Given the description of an element on the screen output the (x, y) to click on. 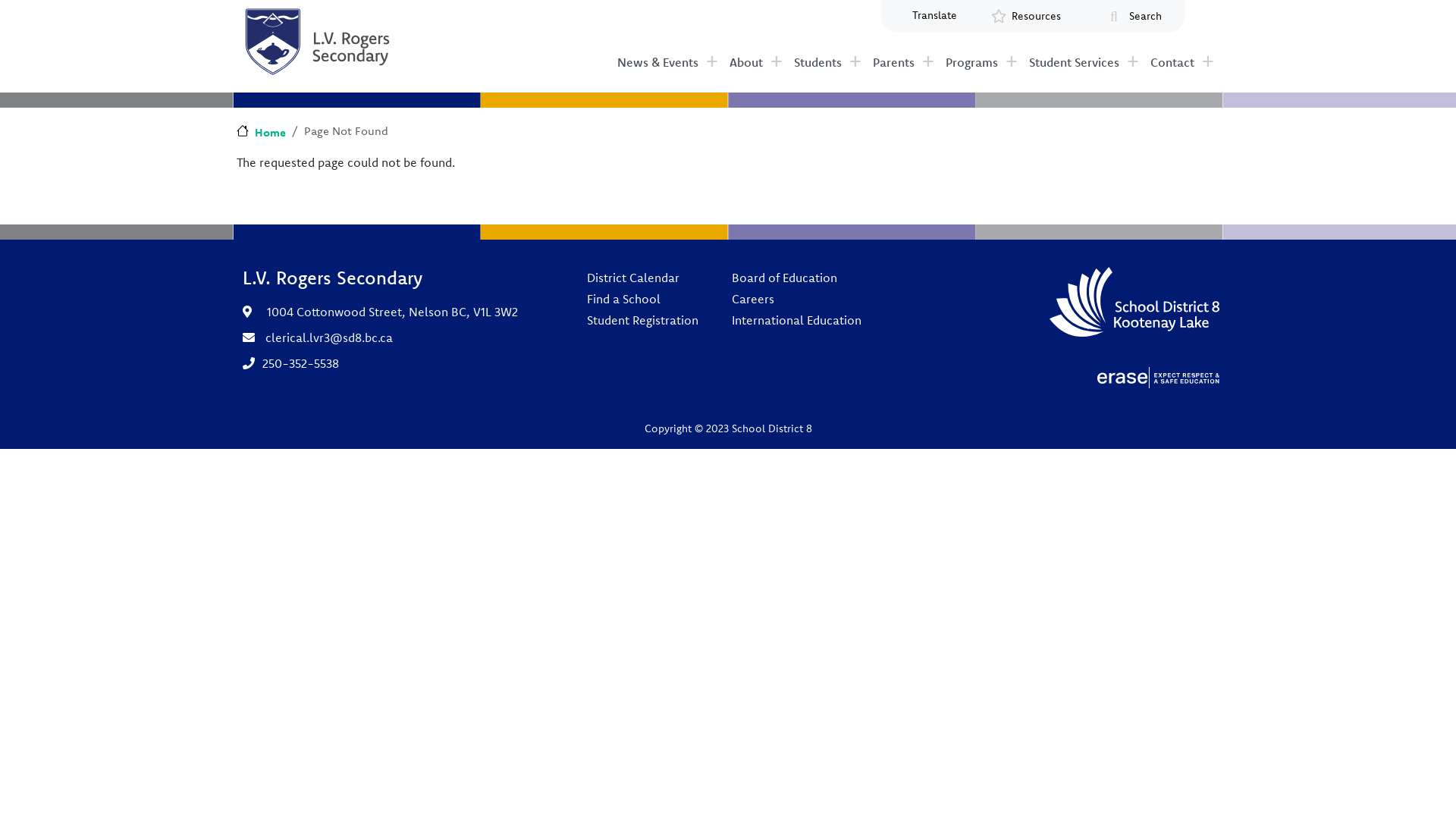
Find a School Element type: text (642, 298)
District Calendar Element type: text (642, 277)
Home Element type: text (260, 132)
Careers Element type: text (796, 298)
Search Element type: text (1145, 15)
clerical.lvr3@sd8.bc.ca Element type: text (328, 337)
International Education Element type: text (796, 319)
Resources Element type: text (1036, 16)
250-352-5538 Element type: text (300, 362)
Translate Element type: text (933, 15)
Student Registration Element type: text (642, 319)
Board of Education Element type: text (796, 277)
